Given the description of an element on the screen output the (x, y) to click on. 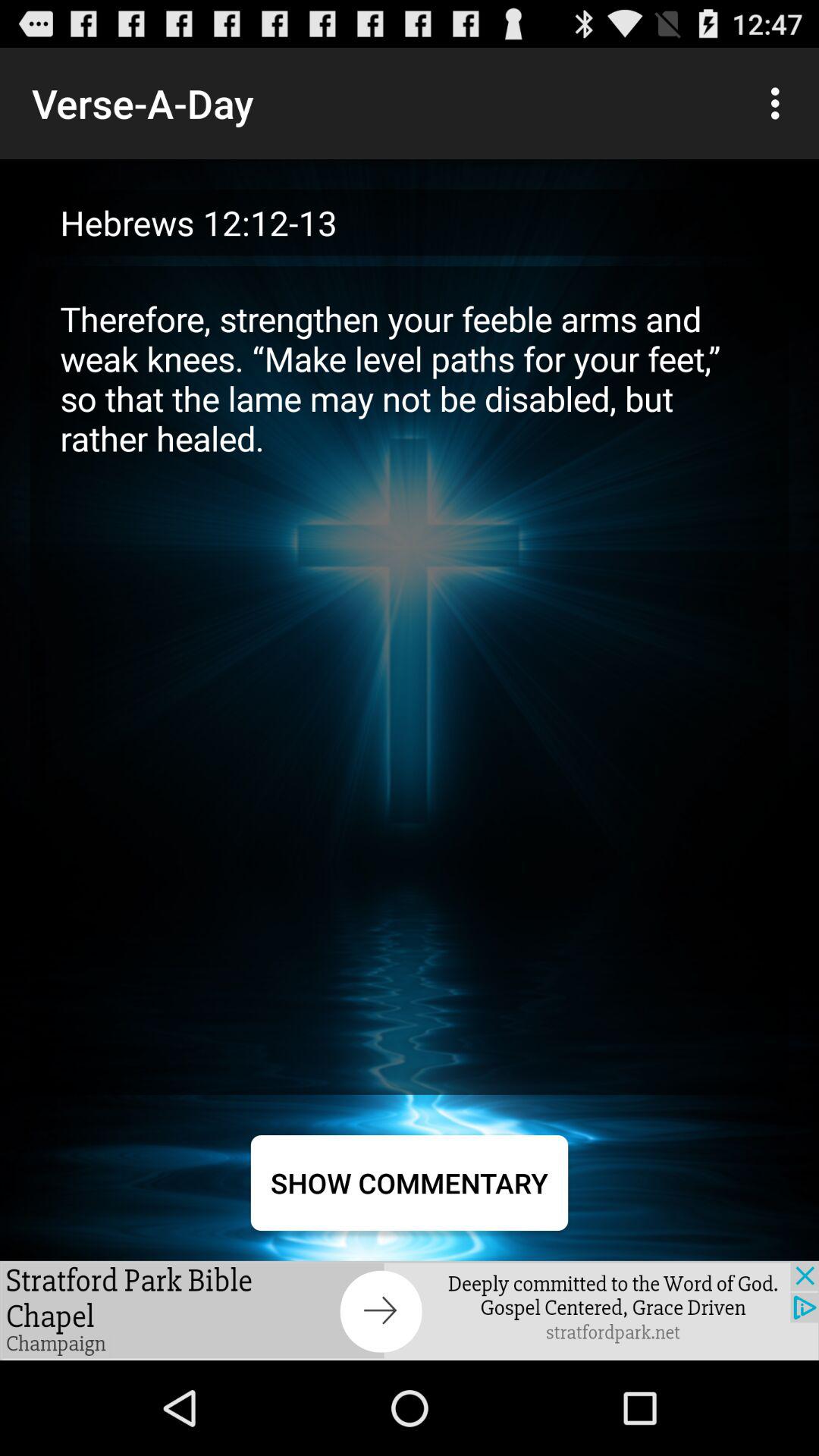
open advertisement (409, 1310)
